Given the description of an element on the screen output the (x, y) to click on. 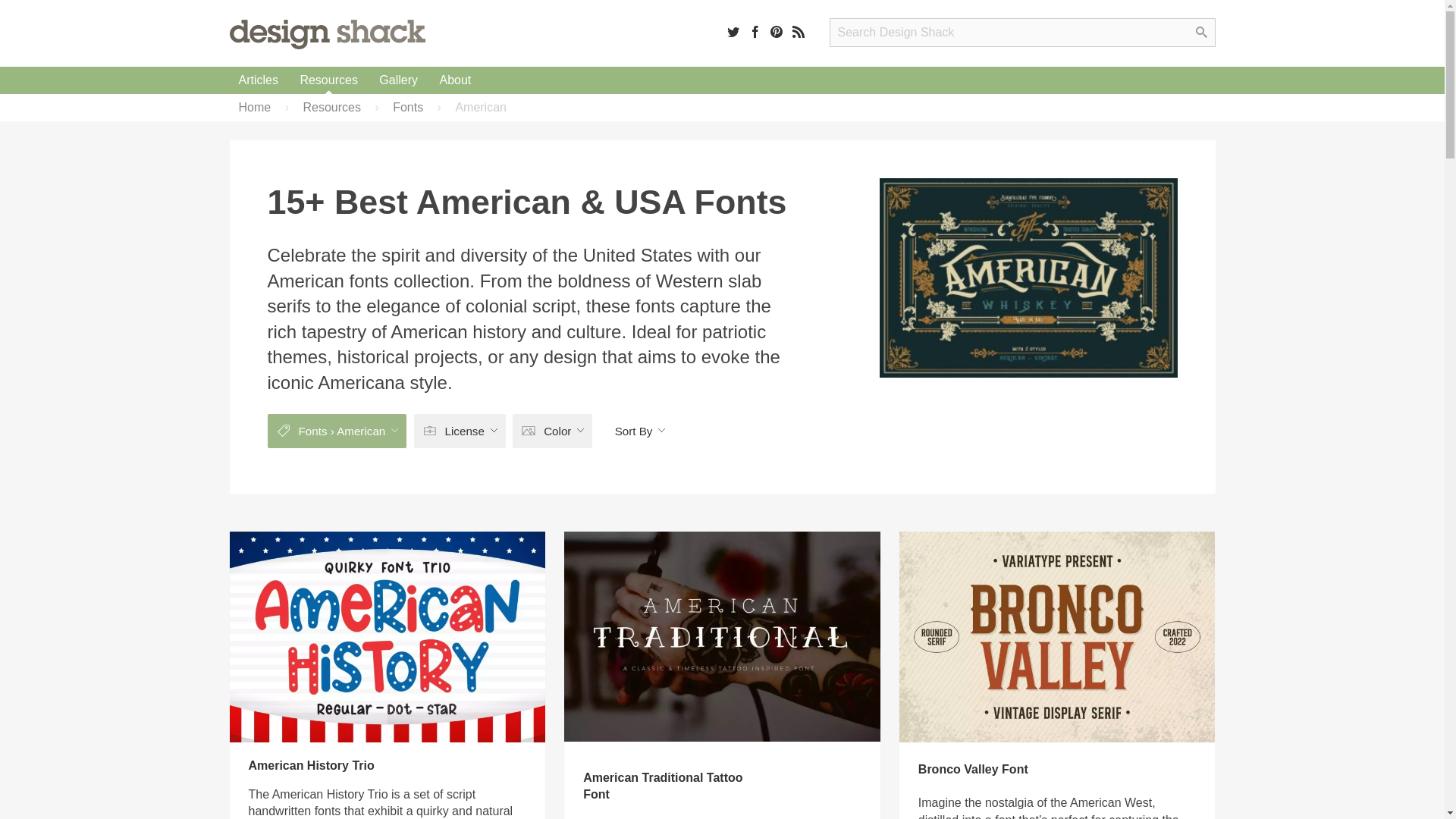
RSS Feed (797, 31)
Articles (257, 80)
Search Design Shack (1022, 32)
Design Shack (326, 34)
Articles (257, 80)
Facebook (755, 31)
Pinterest (776, 31)
Search Design Shack (1022, 32)
